Given the description of an element on the screen output the (x, y) to click on. 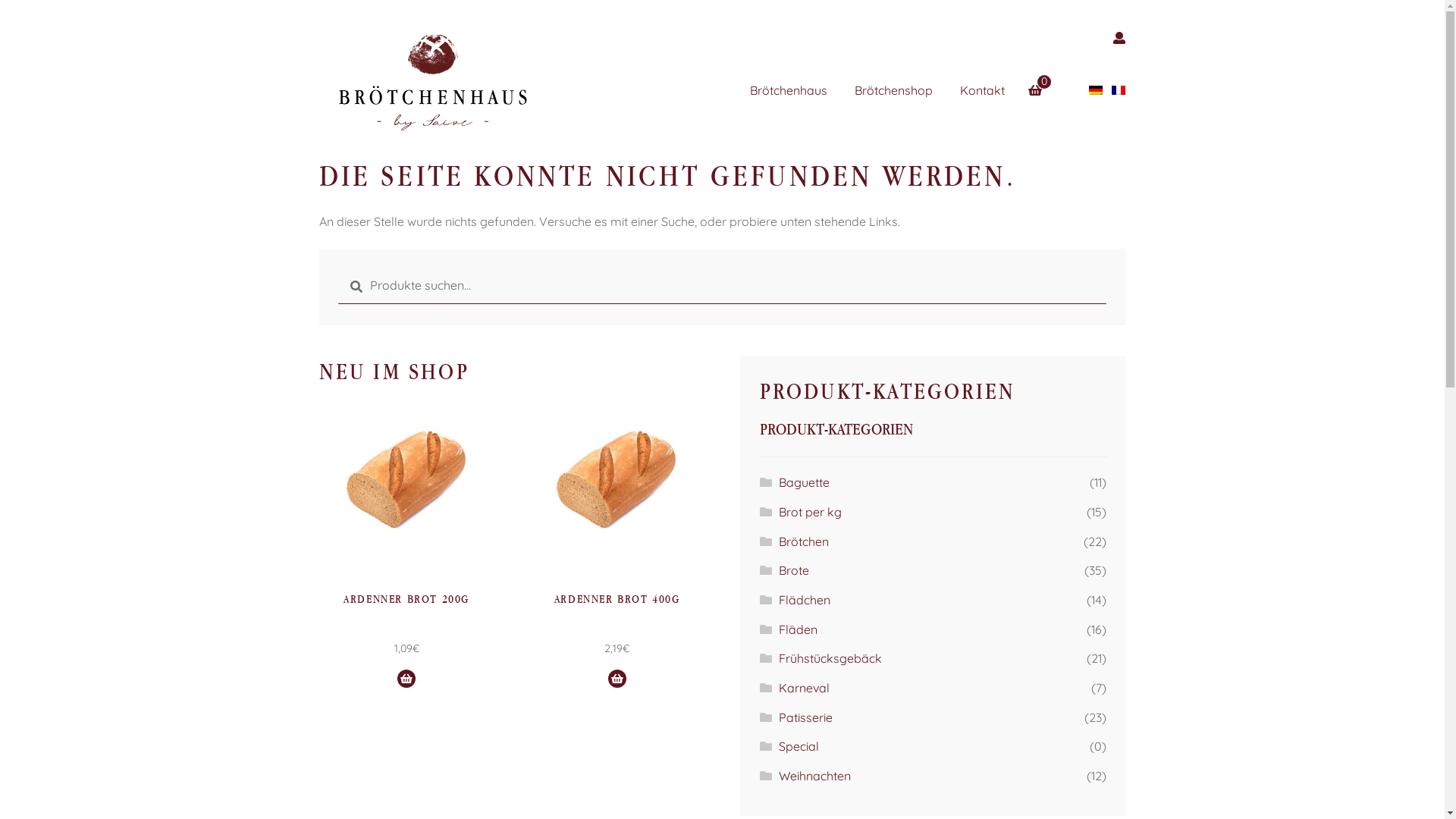
0 Element type: text (1041, 81)
Kontakt Element type: text (994, 90)
Suche Element type: text (337, 267)
Baguette Element type: text (803, 481)
Patisserie Element type: text (805, 716)
Brote Element type: text (793, 569)
Special Element type: text (798, 745)
Zur Navigation springen Element type: text (318, 23)
Karneval Element type: text (803, 687)
Weihnachten Element type: text (814, 775)
Brot per kg Element type: text (809, 511)
